Given the description of an element on the screen output the (x, y) to click on. 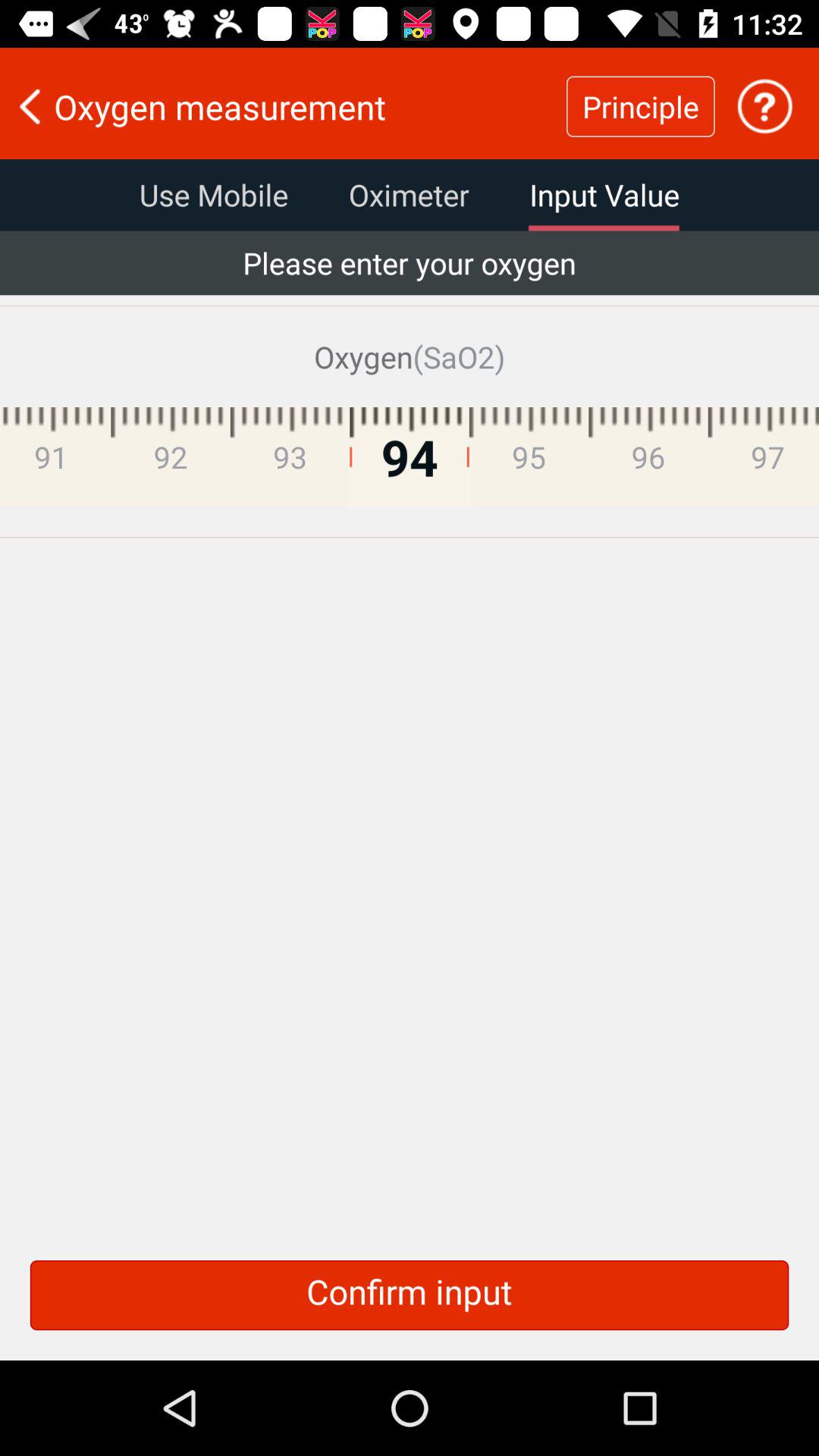
open item next to the principle icon (283, 106)
